Given the description of an element on the screen output the (x, y) to click on. 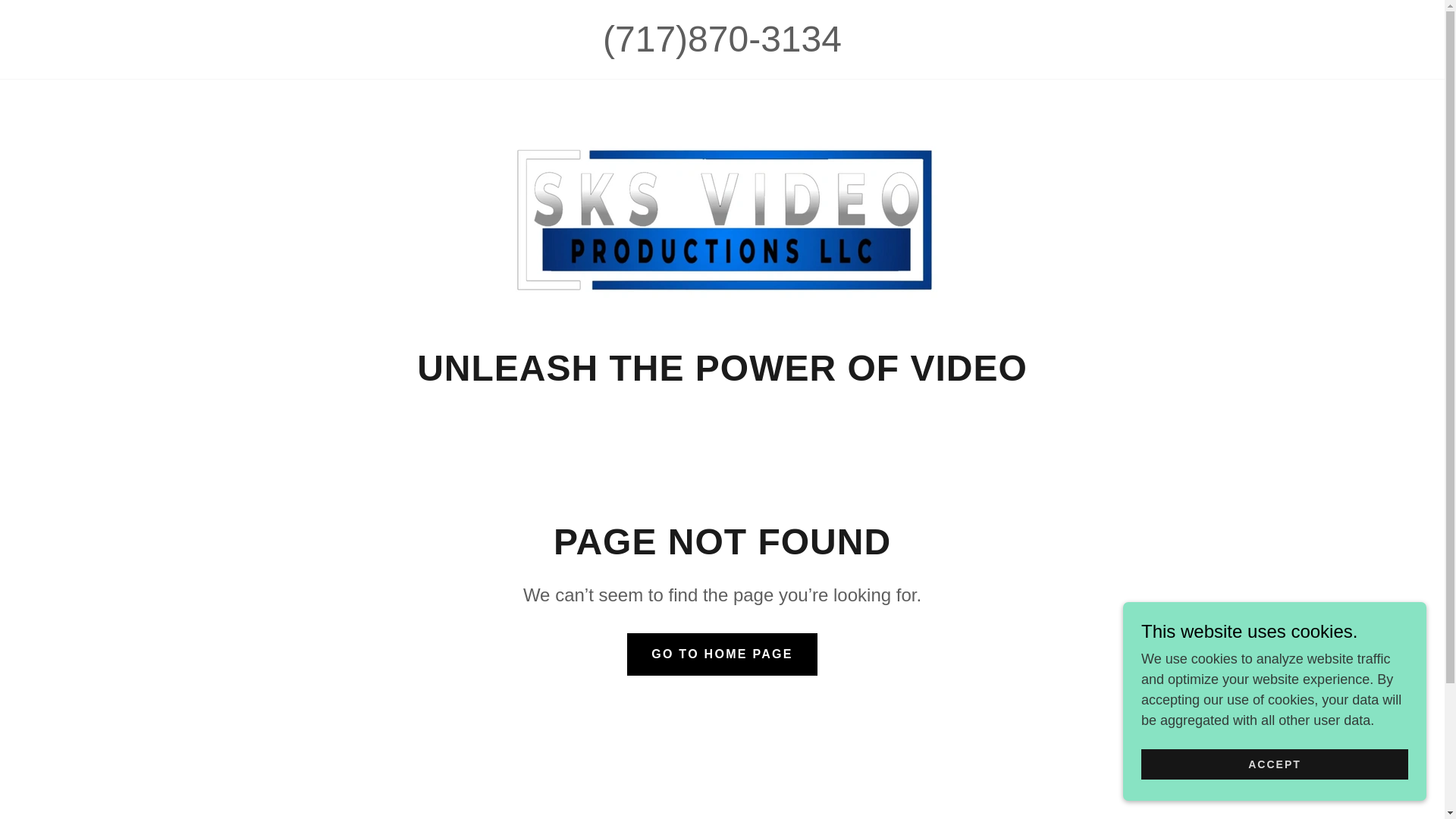
SKS Video Productions LLC (721, 218)
GO TO HOME PAGE (721, 654)
ACCEPT (1274, 764)
